Given the description of an element on the screen output the (x, y) to click on. 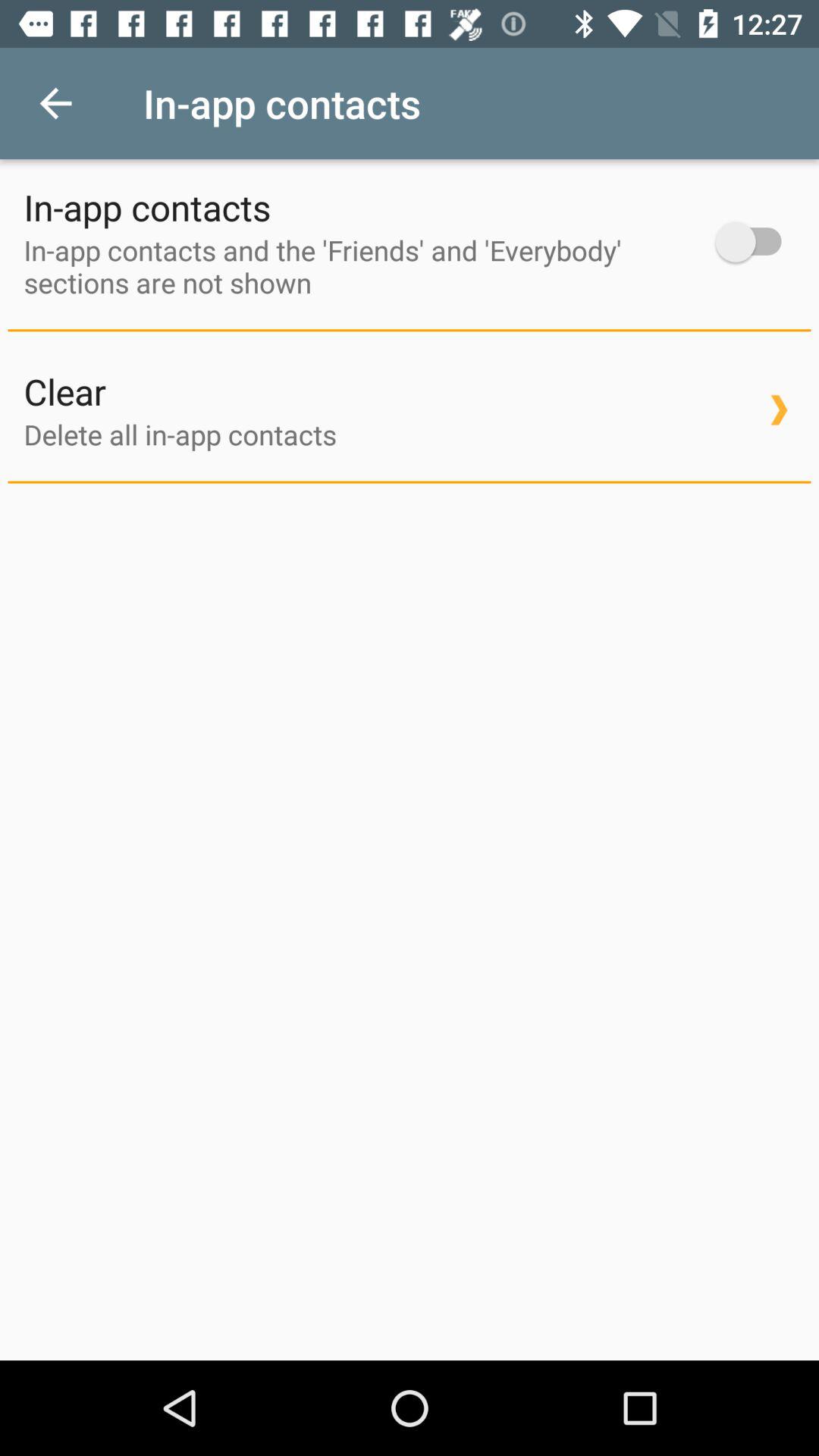
toggle contacts (755, 241)
